Given the description of an element on the screen output the (x, y) to click on. 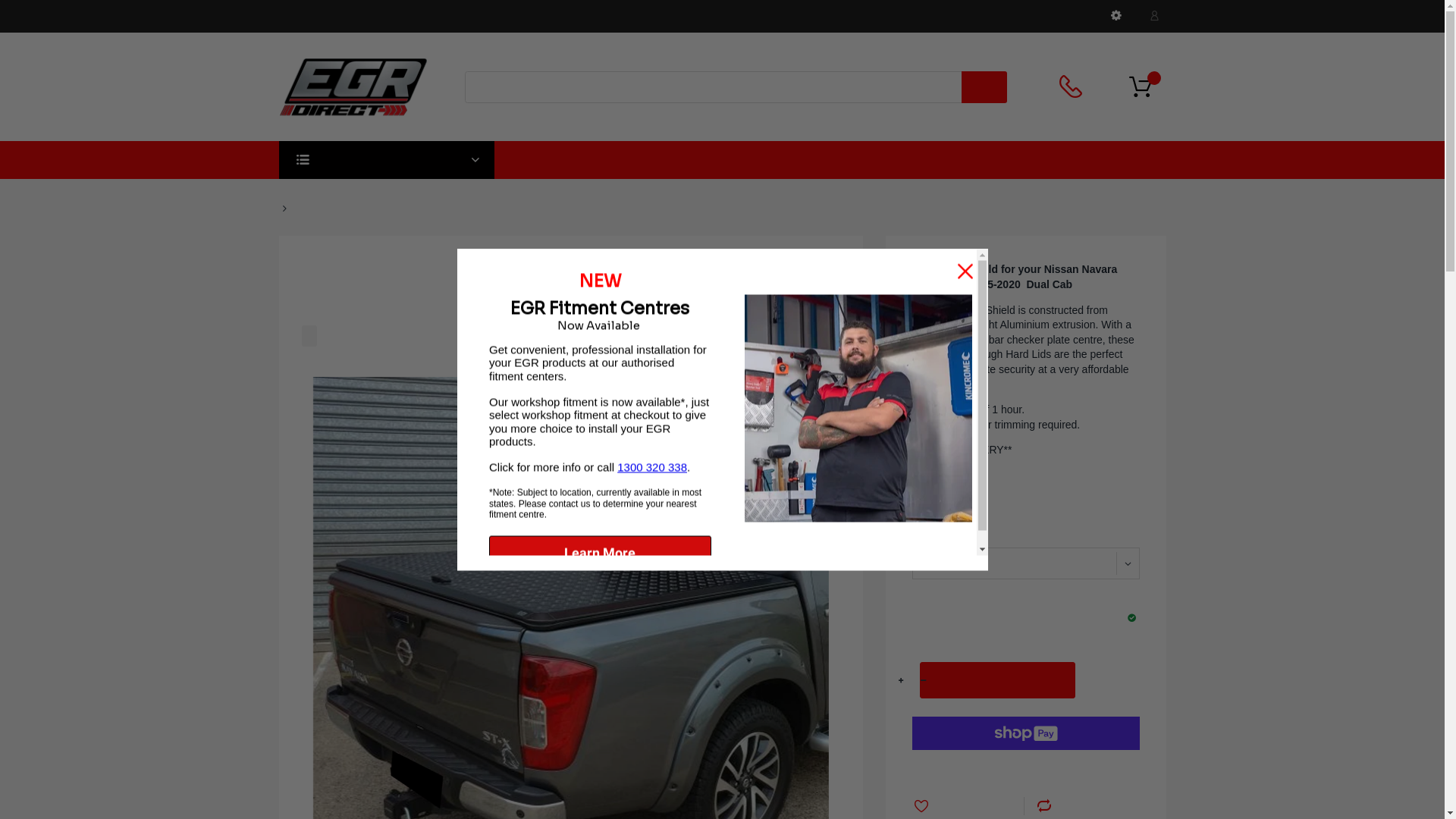
Shopping Cart
0
$0.00 Element type: text (1144, 86)
ADD TO CART Element type: text (996, 680)
SEARCH Element type: text (984, 87)
Increase Element type: hover (900, 680)
Add to Compare Element type: text (1079, 805)
Add to Wishlist Element type: text (966, 805)
EGR Direct Element type: hover (353, 85)
MORE PAYMENT OPTIONS Element type: text (1025, 767)
Translate Element type: hover (1115, 15)
Add Your Review Element type: text (328, 335)
Decrease Element type: hover (923, 680)
